Given the description of an element on the screen output the (x, y) to click on. 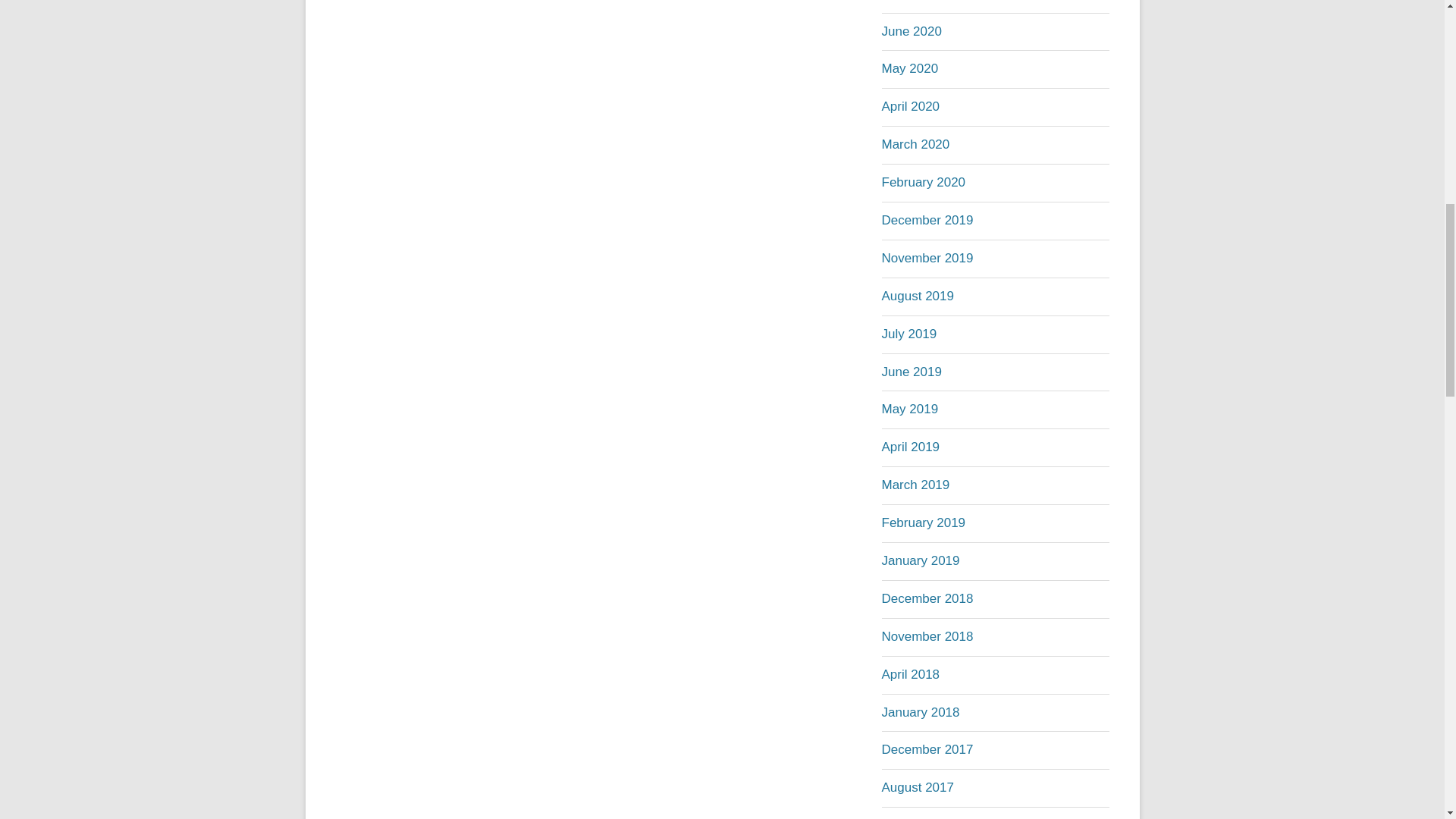
February 2020 (922, 182)
June 2019 (910, 371)
April 2019 (909, 446)
December 2019 (926, 219)
May 2020 (908, 68)
November 2019 (926, 257)
July 2020 (908, 0)
March 2020 (914, 144)
April 2020 (909, 106)
March 2019 (914, 484)
May 2019 (908, 409)
June 2020 (910, 31)
February 2019 (922, 522)
July 2019 (908, 333)
August 2019 (916, 296)
